Given the description of an element on the screen output the (x, y) to click on. 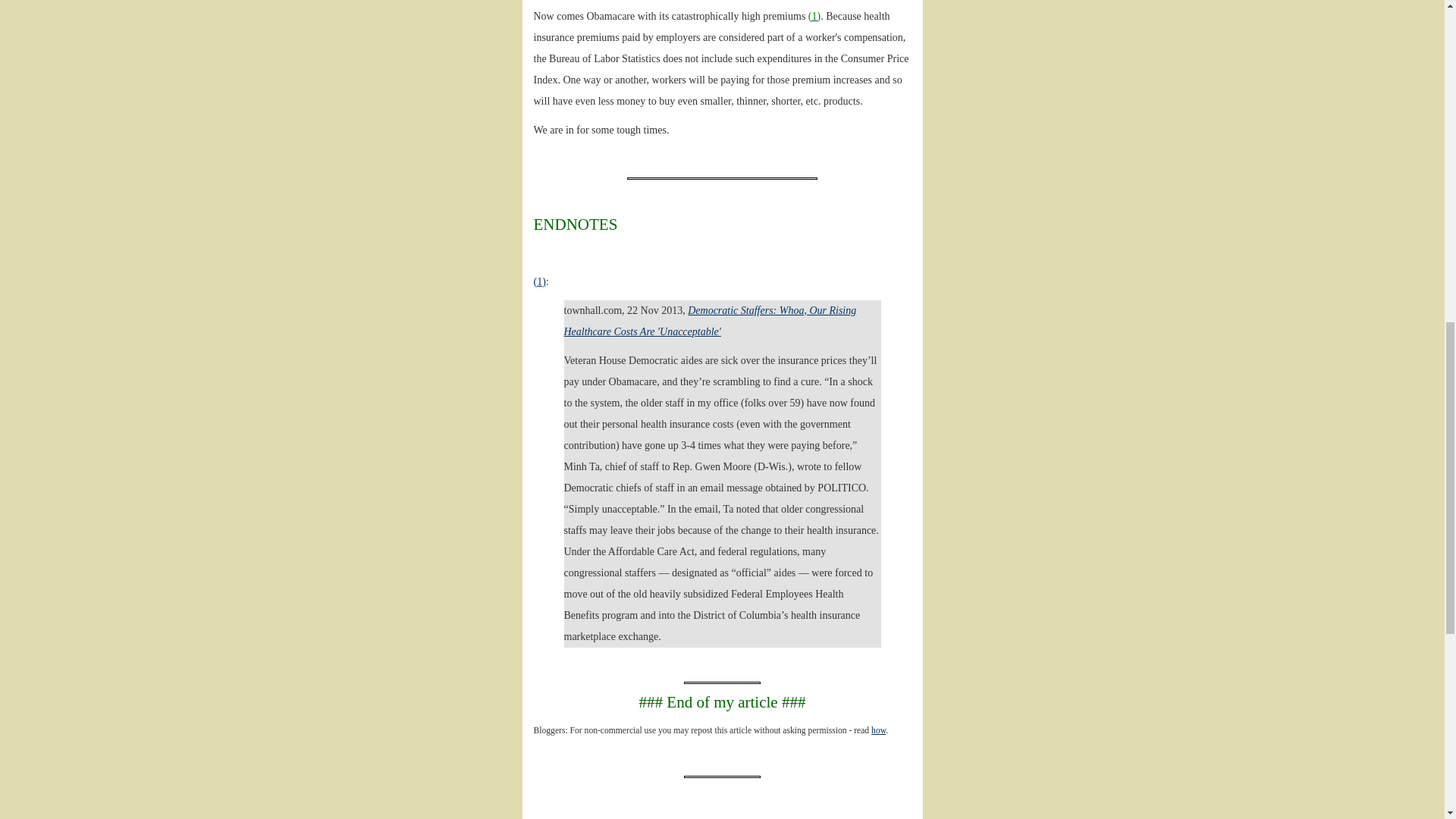
how (877, 730)
